Given the description of an element on the screen output the (x, y) to click on. 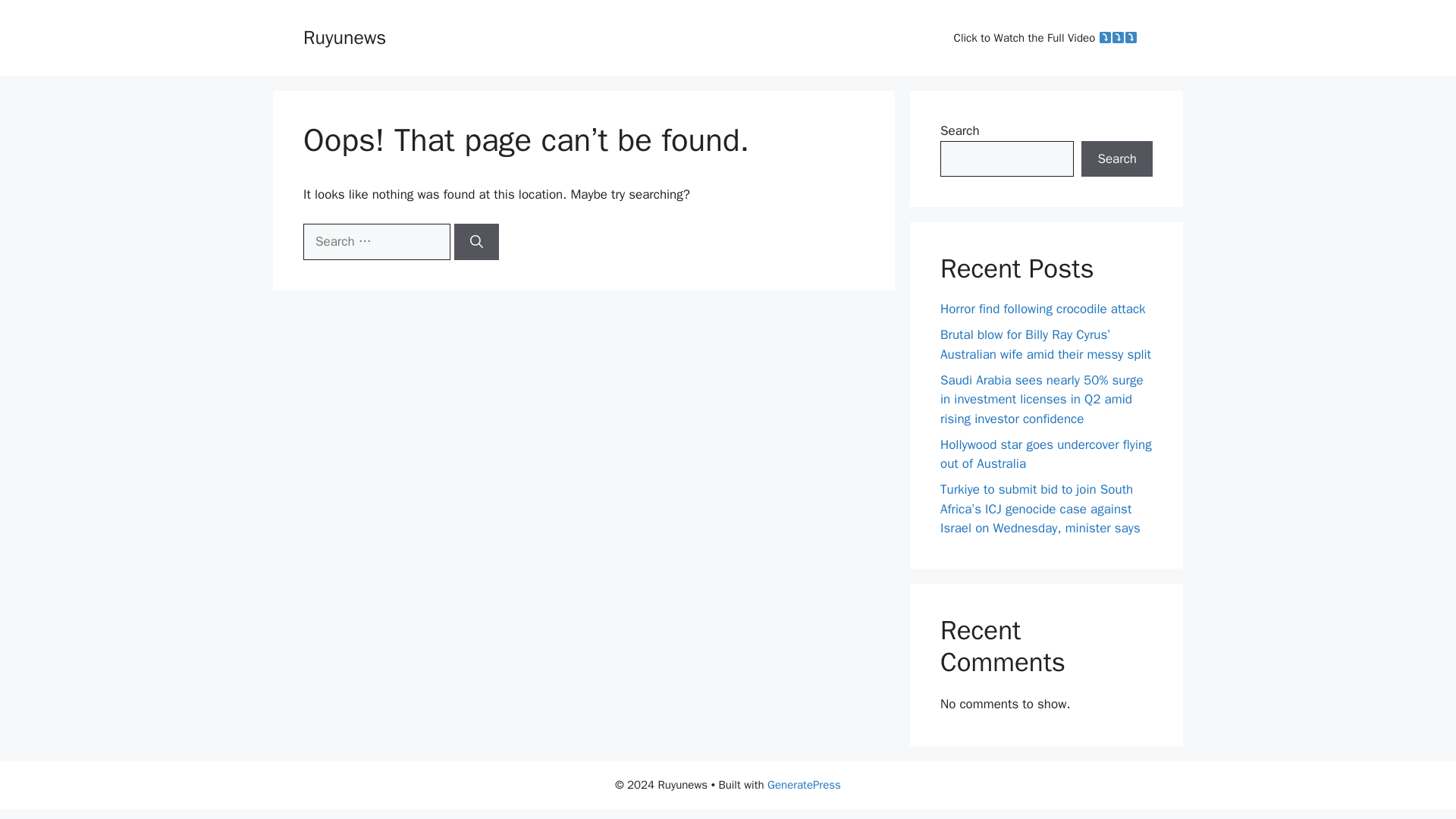
Hollywood star goes undercover flying out of Australia (1045, 454)
Search for: (375, 241)
Horror find following crocodile attack (1042, 308)
Ruyunews (343, 37)
Click to Watch the Full Video (1046, 37)
Search (1117, 158)
GeneratePress (804, 784)
